Given the description of an element on the screen output the (x, y) to click on. 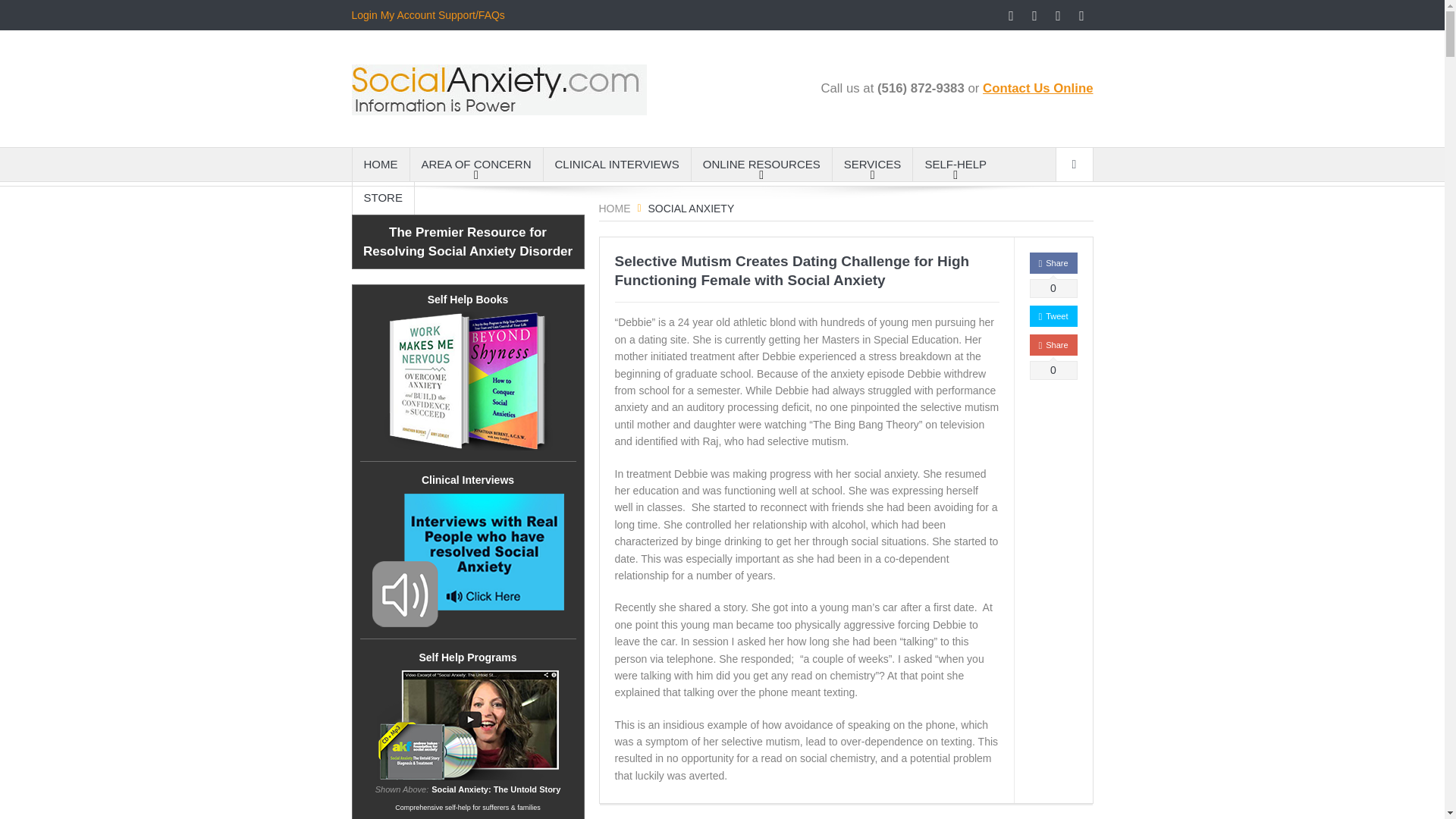
ONLINE RESOURCES (761, 164)
AREA OF CONCERN (475, 164)
SELF-HELP (954, 164)
Login (364, 15)
SERVICES (872, 164)
HOME (380, 164)
Contact Us Online (1037, 88)
My Account (407, 15)
CLINICAL INTERVIEWS (616, 164)
